Given the description of an element on the screen output the (x, y) to click on. 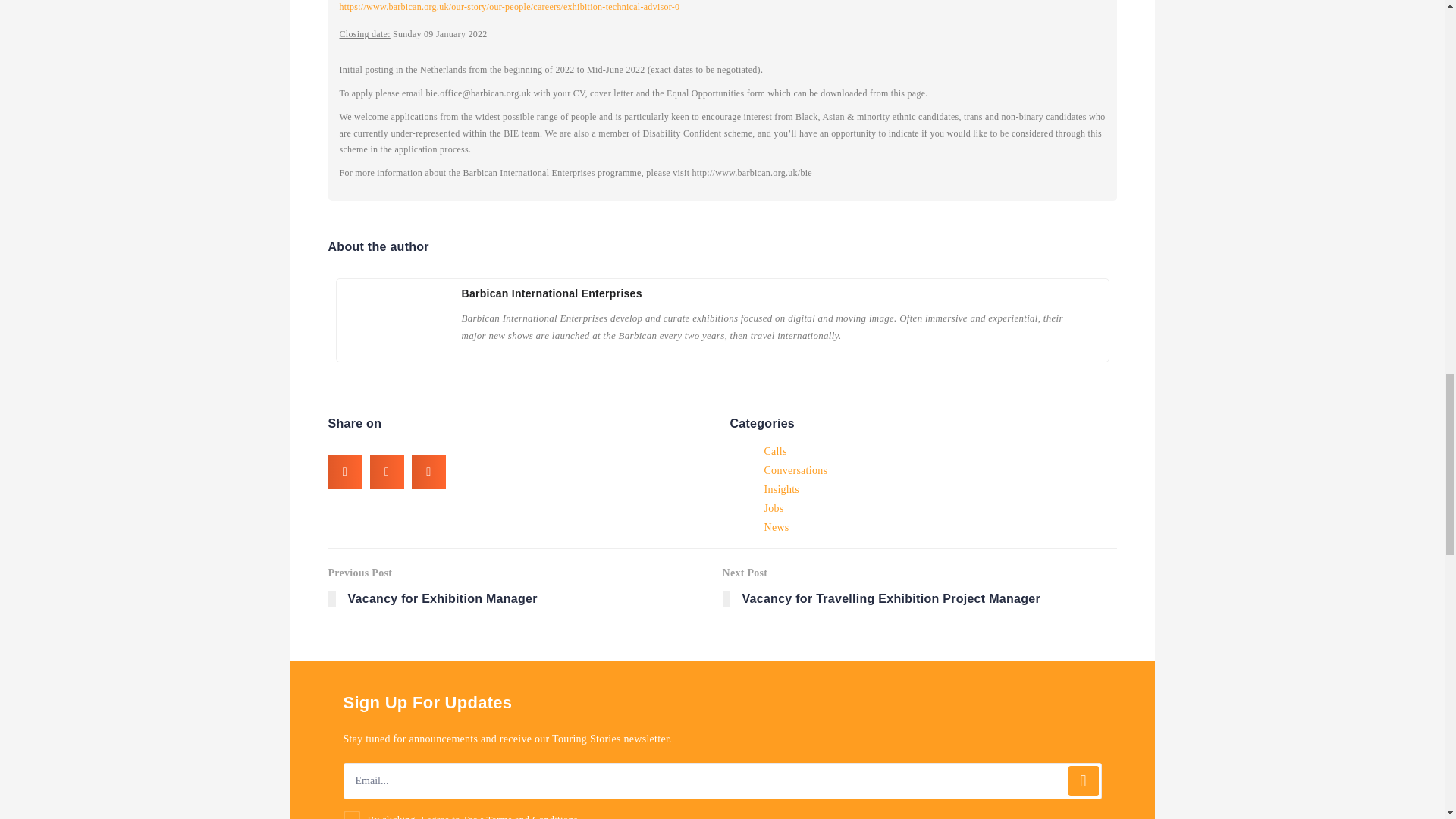
Jobs (919, 585)
Terms and Conditions (773, 508)
Calls (532, 816)
Barbican International Enterprises (524, 585)
Insights (775, 451)
Conversations (551, 293)
News (781, 489)
